Given the description of an element on the screen output the (x, y) to click on. 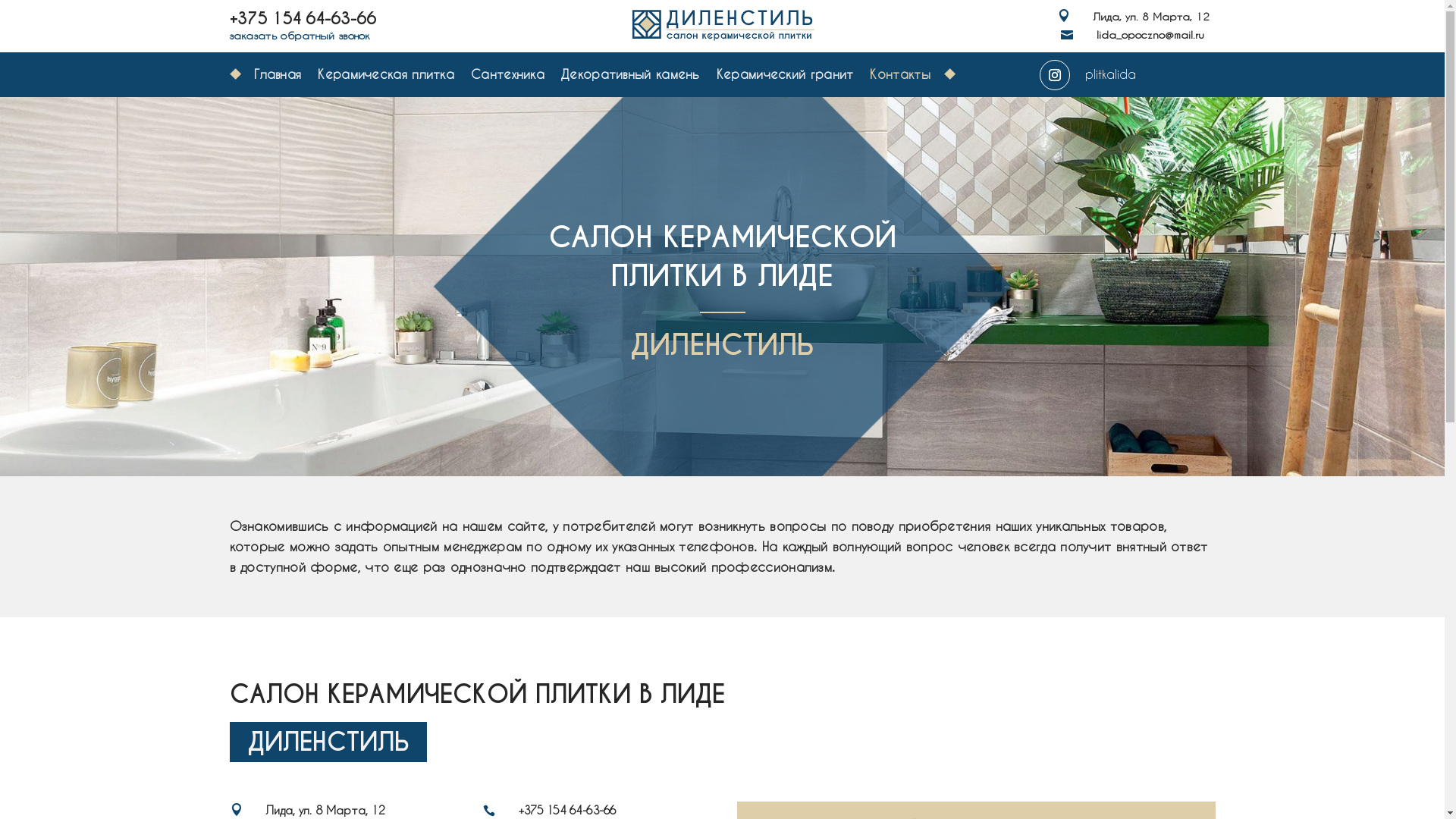
+375 154 64-63-66 Element type: text (302, 18)
logo2 Element type: hover (722, 23)
lida_opoczno@mail.ru Element type: text (1150, 34)
+375 154 64-63-66 Element type: text (567, 809)
